Given the description of an element on the screen output the (x, y) to click on. 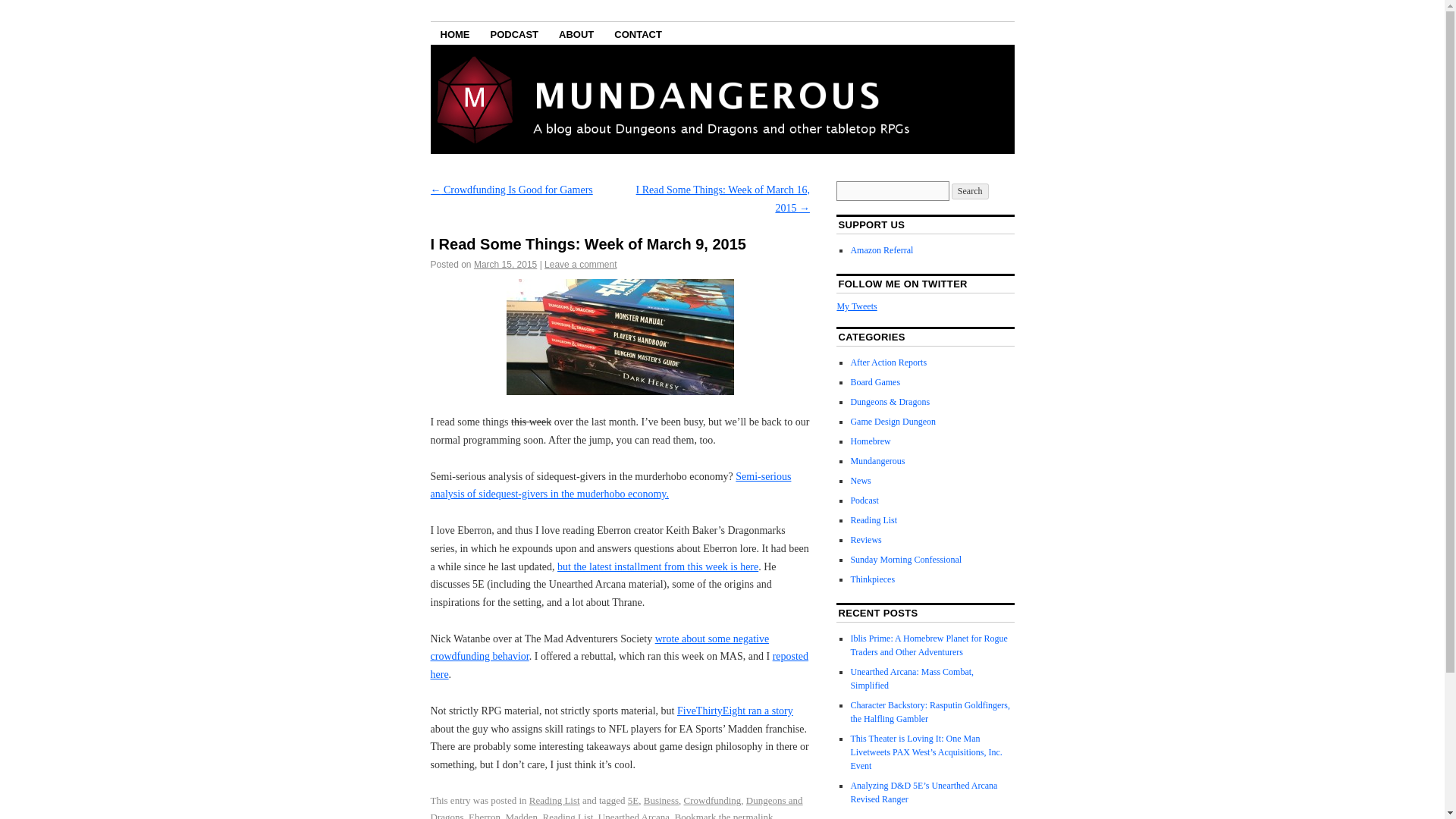
8:52 pm (505, 264)
Reading List (568, 815)
Business (660, 799)
Leave a comment (579, 264)
Game Design Dungeon (893, 421)
CONTACT (637, 33)
FiveThirtyEight ran a story (735, 710)
permalink (753, 815)
Eberron (484, 815)
My Tweets (855, 306)
March 15, 2015 (505, 264)
Crowdfunding (712, 799)
Unearthed Arcana (633, 815)
Permalink to I Read Some Things: Week of March 9, 2015 (753, 815)
Madden (521, 815)
